Given the description of an element on the screen output the (x, y) to click on. 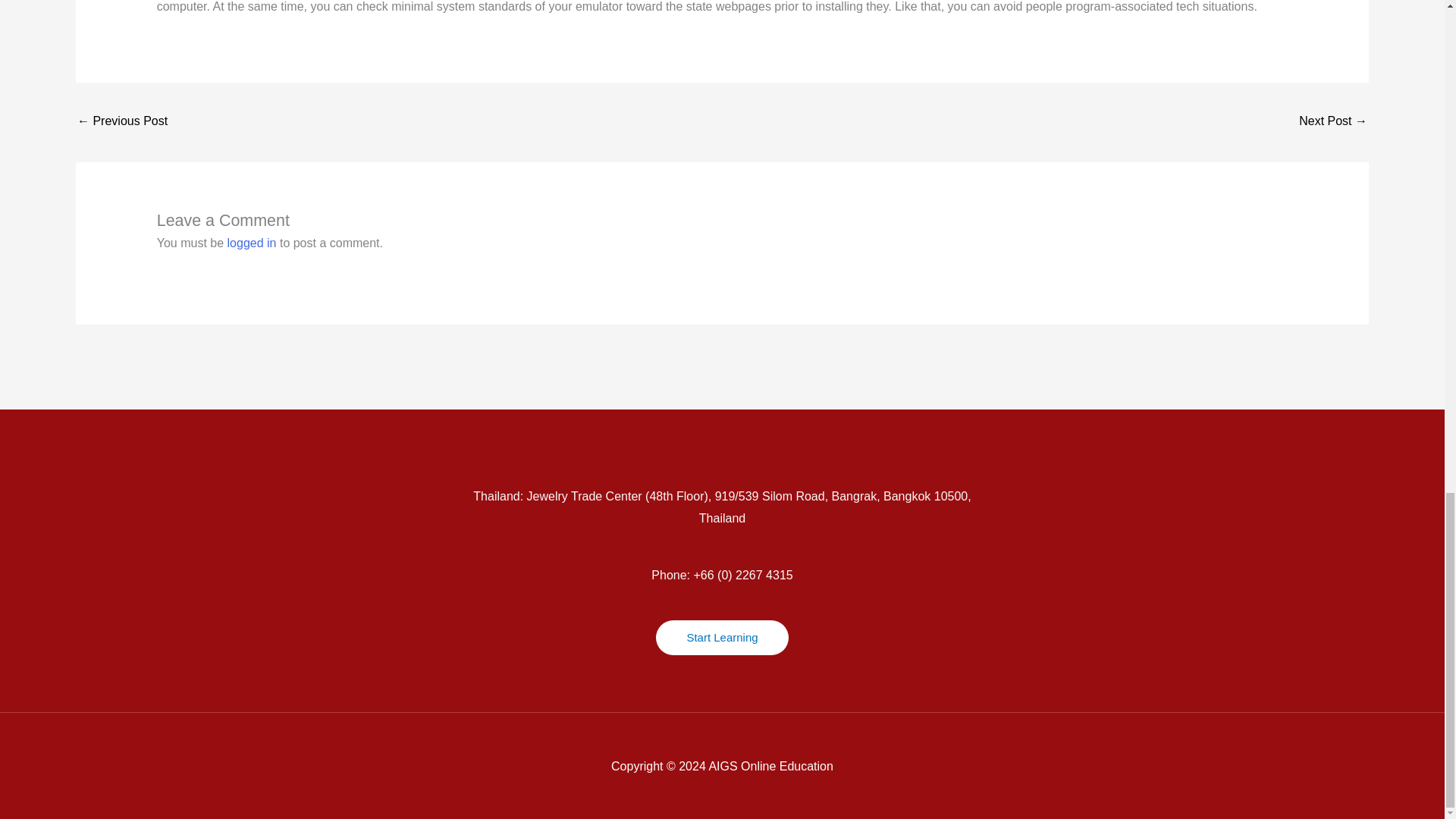
logged in (251, 242)
Start Learning (721, 637)
